Given the description of an element on the screen output the (x, y) to click on. 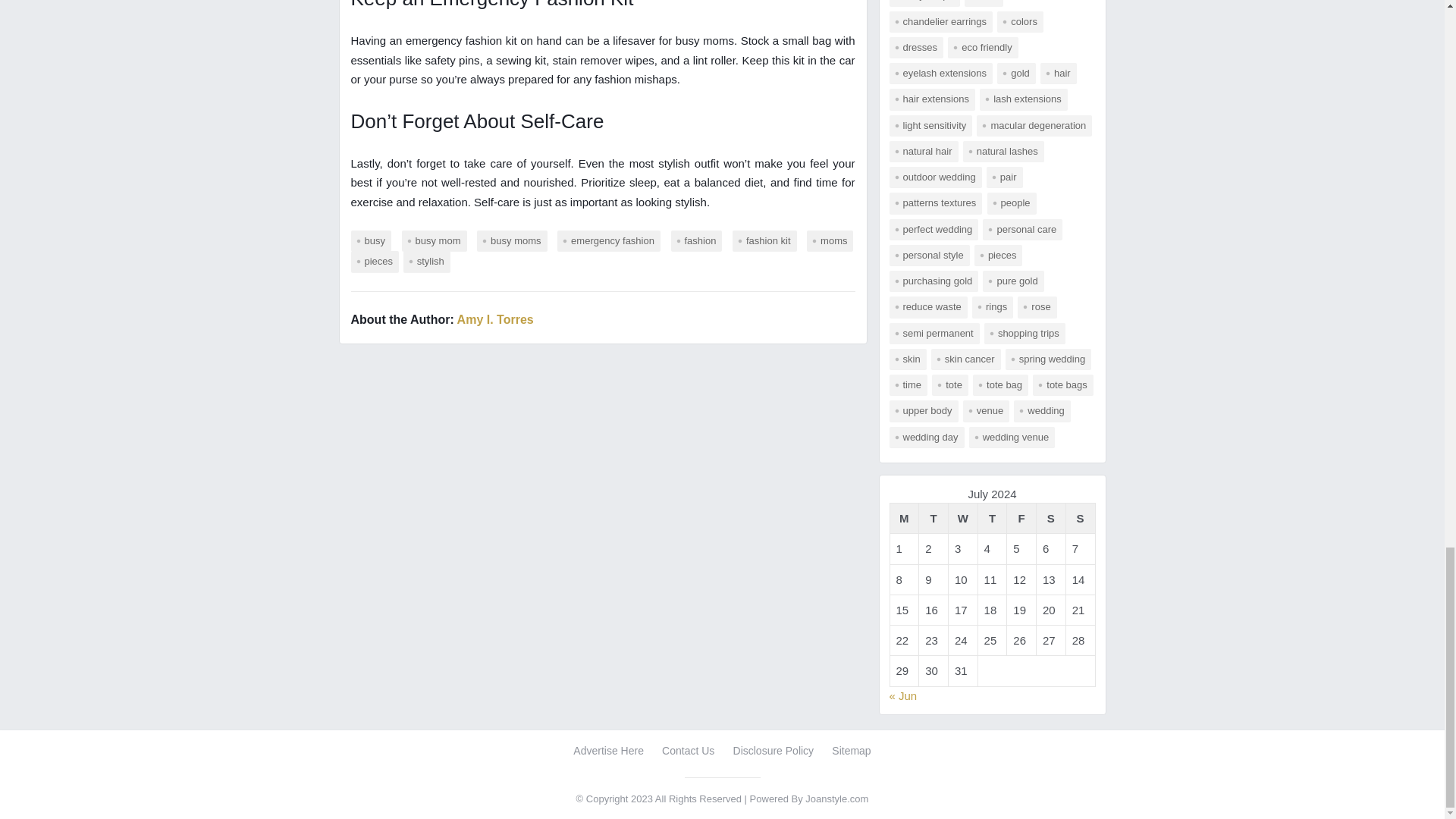
Wednesday (961, 518)
Monday (903, 518)
Tuesday (933, 518)
Thursday (991, 518)
Friday (1021, 518)
